Given the description of an element on the screen output the (x, y) to click on. 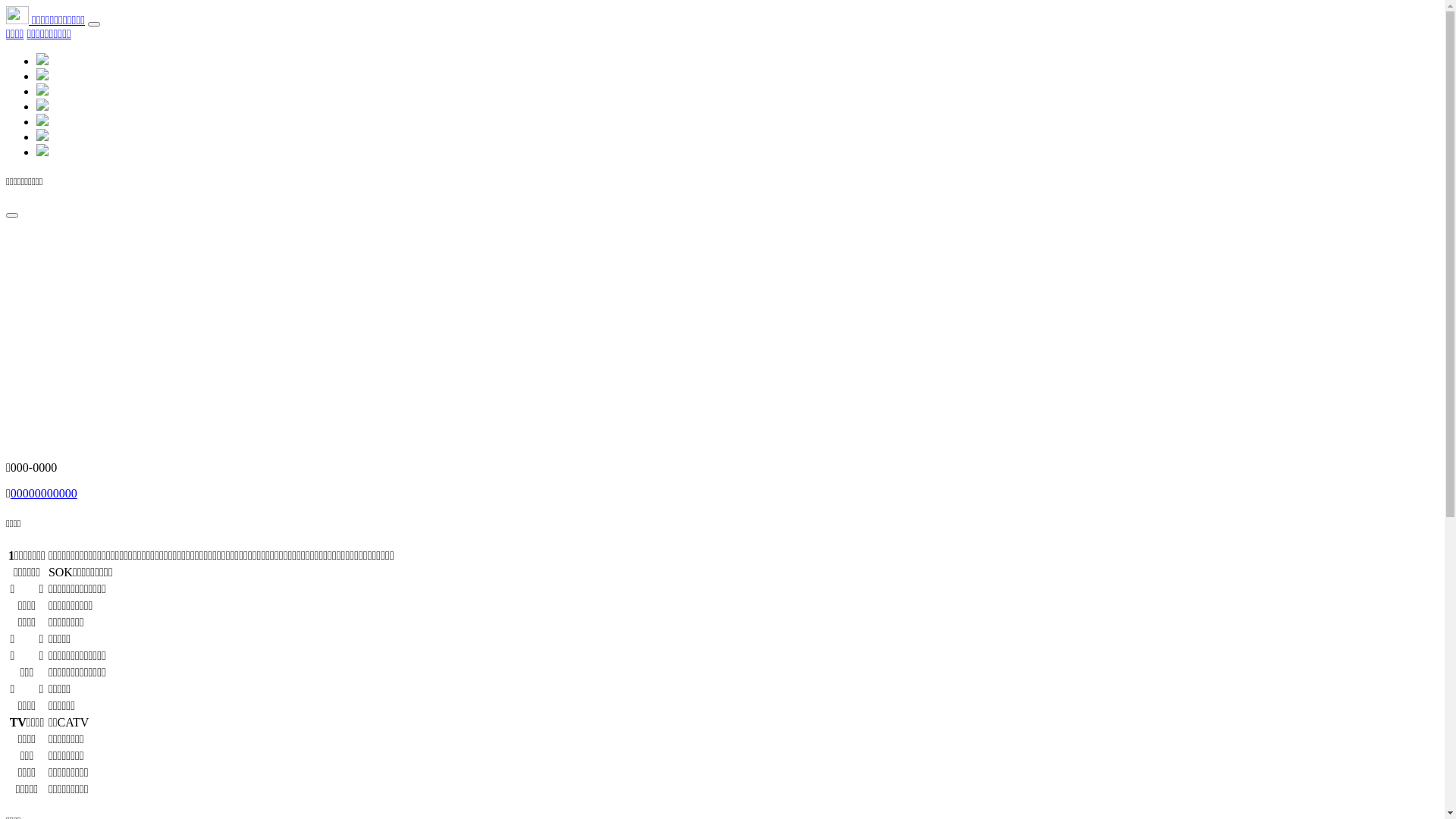
00000000000 Element type: text (43, 492)
